Given the description of an element on the screen output the (x, y) to click on. 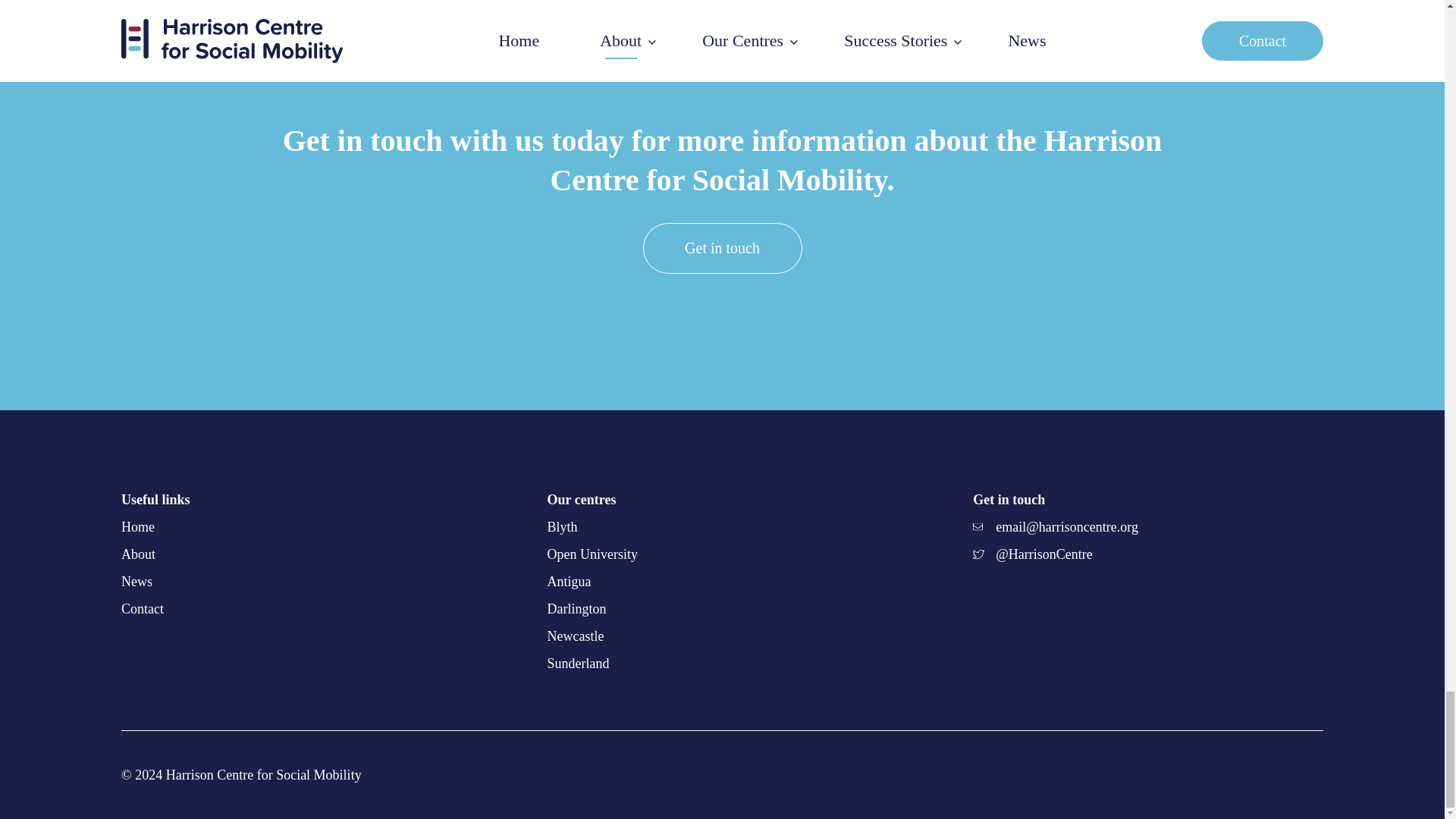
Open University (722, 554)
News (136, 581)
Newcastle (722, 636)
Contact (141, 608)
Blyth (722, 526)
Home (137, 526)
Get in touch (722, 246)
About (137, 554)
Antigua (722, 581)
Darlington (722, 608)
